Given the description of an element on the screen output the (x, y) to click on. 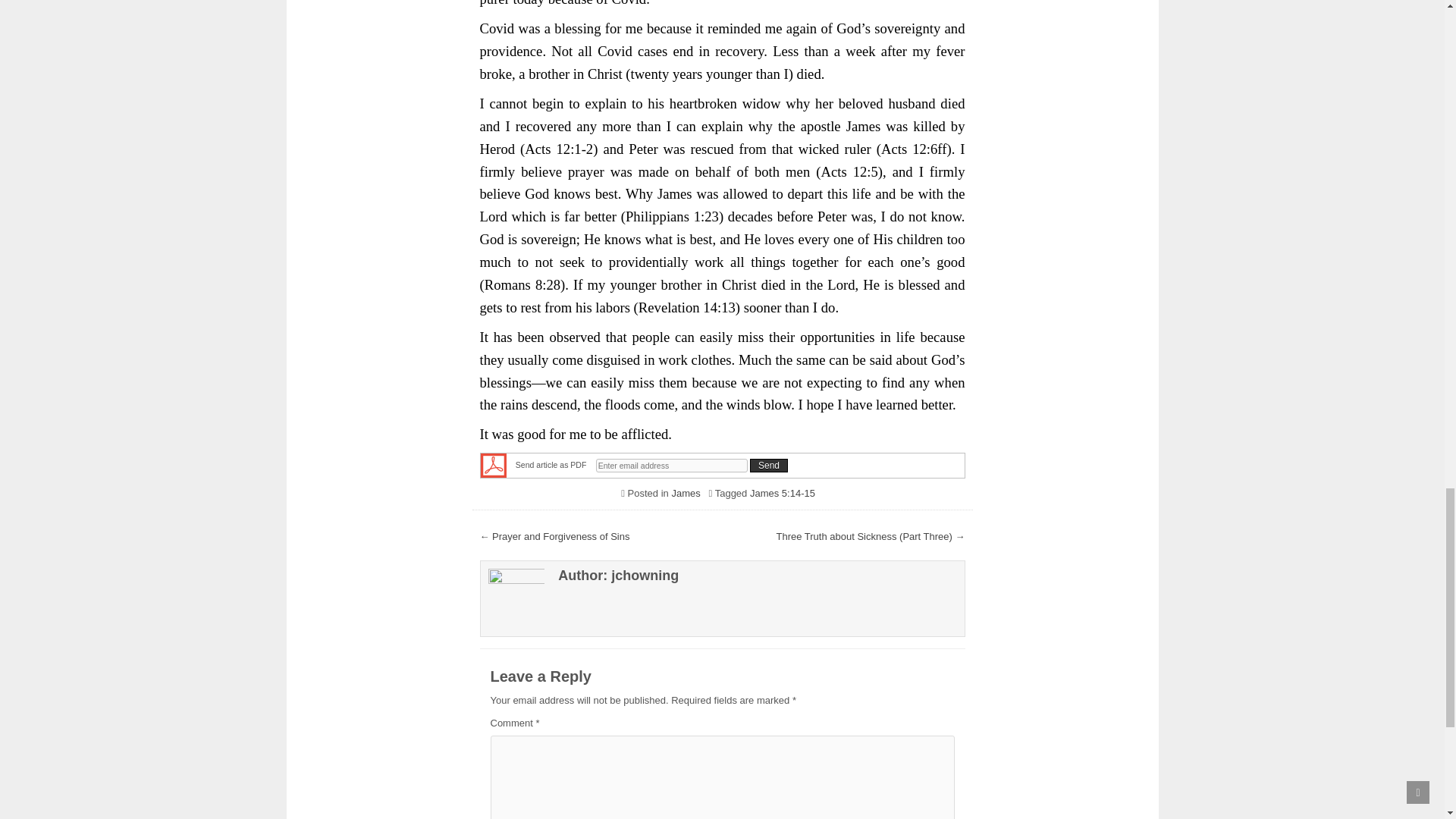
www.pdf24.org (493, 464)
Send (768, 465)
Send (768, 465)
James (685, 492)
James 5:14-15 (782, 492)
